Given the description of an element on the screen output the (x, y) to click on. 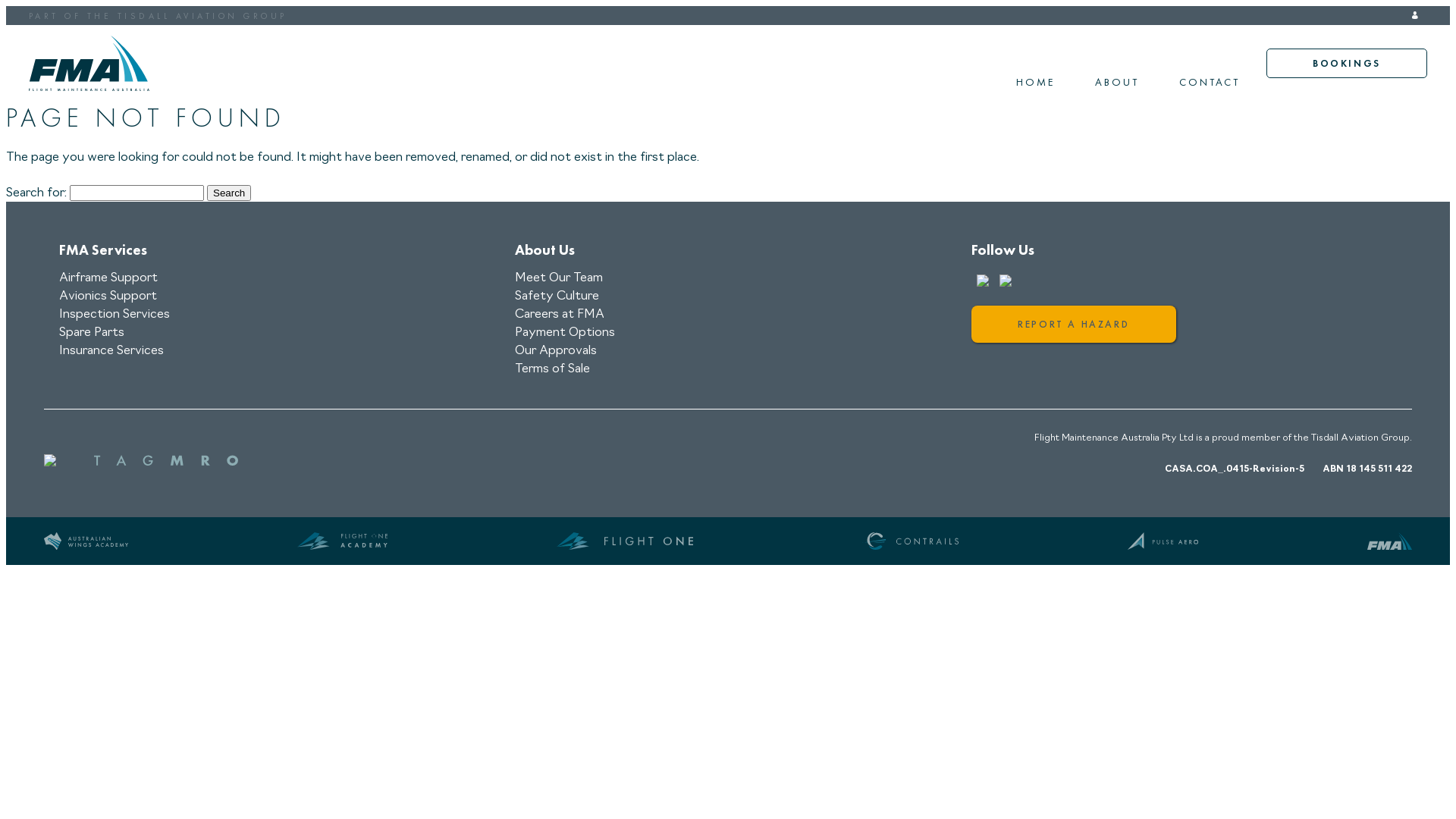
Airframe Support Element type: text (108, 277)
Safety Culture Element type: text (556, 295)
Avionics Support Element type: text (107, 295)
REPORT A HAZARD Element type: text (1073, 323)
BOOKINGS Element type: text (1346, 63)
ABOUT Element type: text (1116, 81)
Payment Options Element type: text (564, 332)
CASA.COA_.0415-Revision-5 Element type: text (1234, 468)
CONTACT Element type: text (1209, 81)
Terms of Sale Element type: text (551, 368)
HOME Element type: text (1035, 81)
Careers at FMA Element type: text (559, 313)
Inspection Services Element type: text (114, 313)
Our Approvals Element type: text (555, 350)
Insurance Services Element type: text (111, 350)
Meet Our Team Element type: text (558, 277)
Search Element type: text (229, 192)
Spare Parts Element type: text (91, 332)
